Given the description of an element on the screen output the (x, y) to click on. 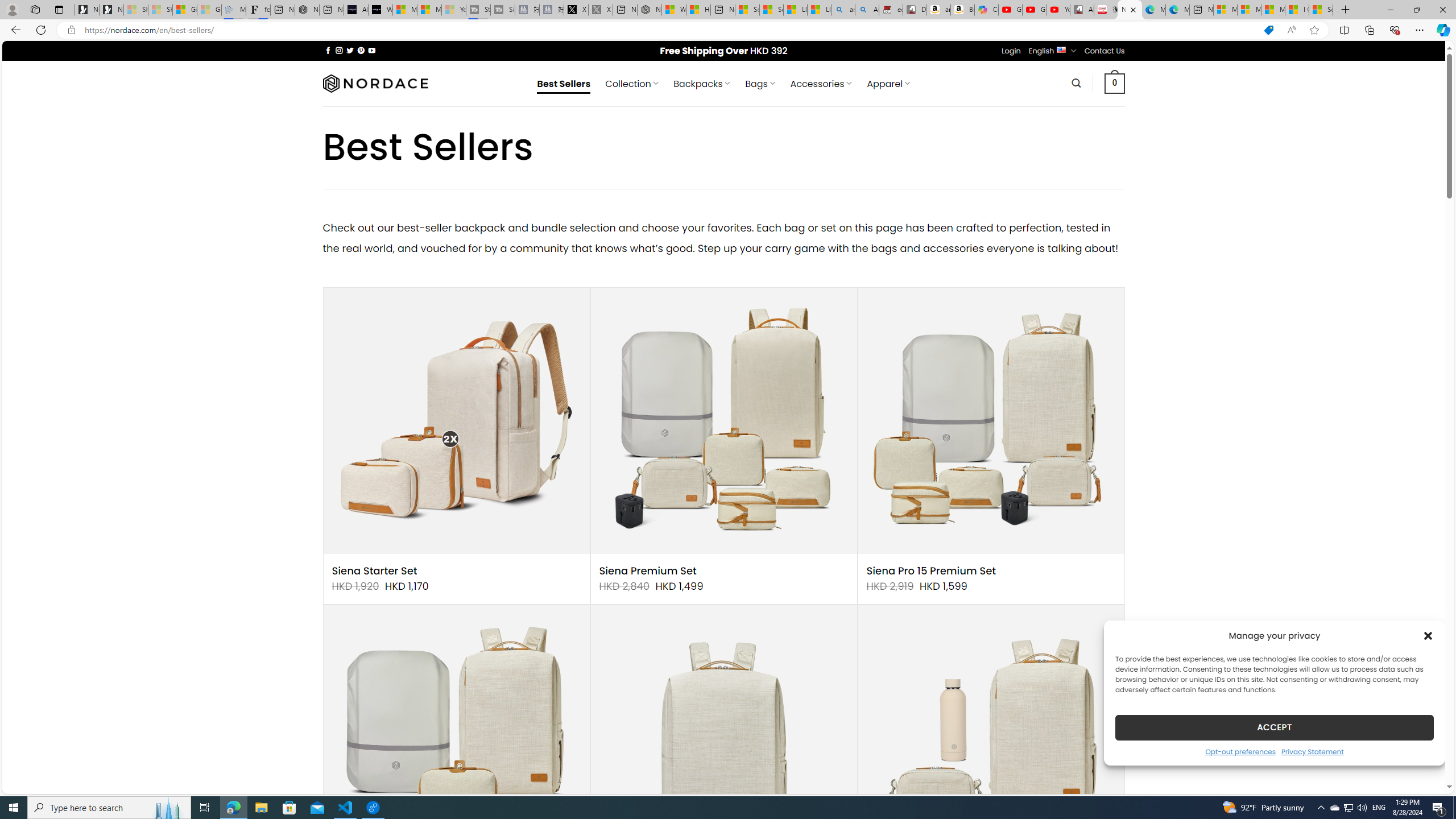
Login (1010, 50)
Siena Premium Set (647, 571)
This site has coupons! Shopping in Microsoft Edge (1268, 29)
Siena Pro 15 Premium Set (930, 571)
Follow on Instagram (338, 49)
Siena Starter Set (374, 571)
  0   (1115, 83)
